Given the description of an element on the screen output the (x, y) to click on. 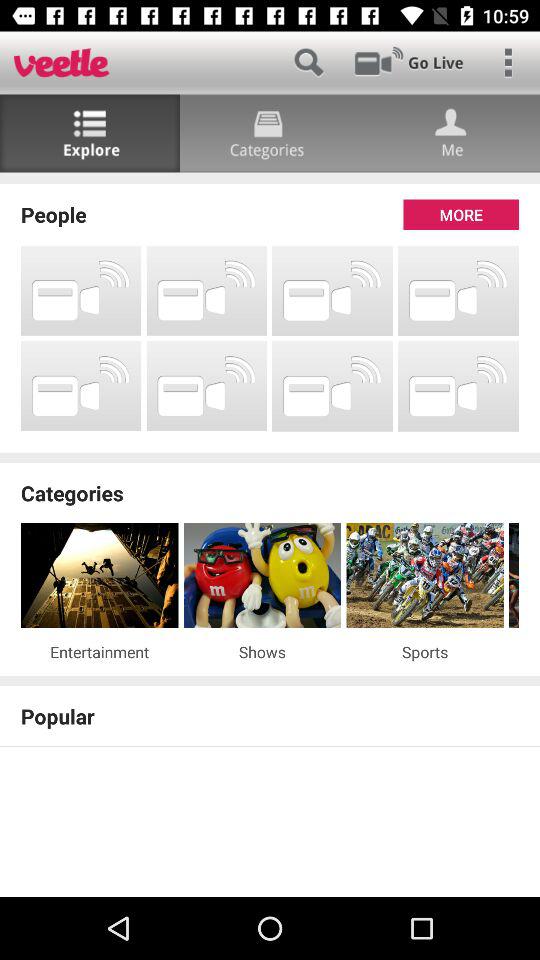
turn on item next to the shows (424, 651)
